Given the description of an element on the screen output the (x, y) to click on. 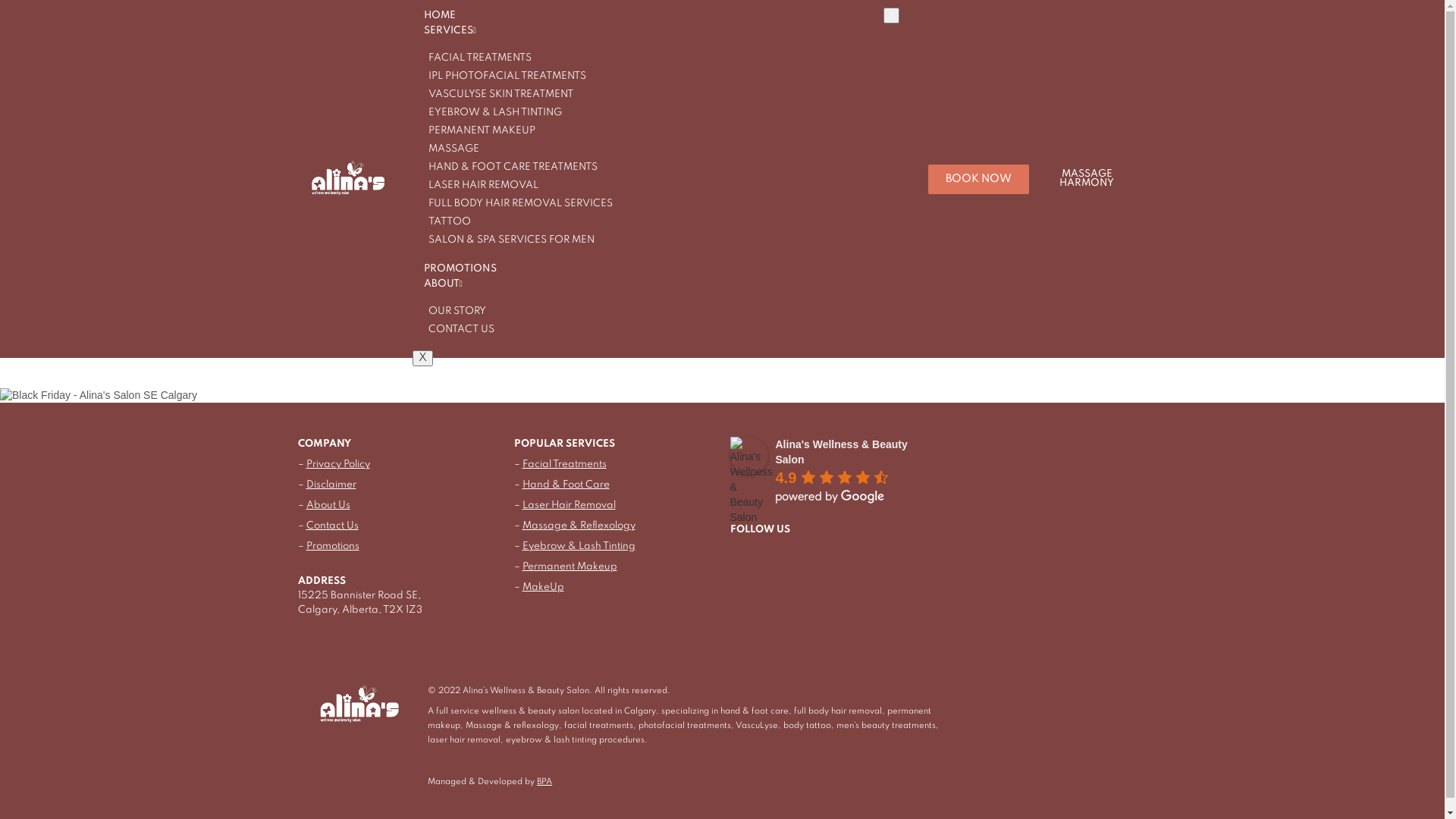
HAND & FOOT CARE TREATMENTS Element type: text (508, 167)
Laser Hair Removal Element type: text (568, 505)
Black Friday - Alina's Salon SE Calgary Element type: hover (722, 395)
FACIAL TREATMENTS Element type: text (475, 57)
TATTOO Element type: text (445, 221)
OUR STORY Element type: text (453, 311)
Eyebrow & Lash Tinting  Element type: text (579, 546)
MakeUp Element type: text (542, 587)
BPA Element type: text (544, 781)
IPL PHOTOFACIAL TREATMENTS Element type: text (503, 76)
powered by Google Element type: hover (829, 496)
Alina's Wellness & Beauty Salon Element type: hover (748, 455)
PERMANENT MAKEUP Element type: text (477, 130)
X Element type: text (422, 358)
SERVICES Element type: text (449, 30)
MASSAGE HARMONY Element type: text (1086, 178)
SALON & SPA SERVICES FOR MEN Element type: text (507, 239)
HOME Element type: text (439, 15)
MASSAGE Element type: text (449, 148)
LASER HAIR REMOVAL Element type: text (479, 185)
Alina's Wellness & Beauty Salon Element type: text (840, 451)
Massage & Reflexology Element type: text (577, 525)
Facial Treatments Element type: text (563, 464)
ABOUT Element type: text (442, 283)
Promotions Element type: text (332, 546)
Permanent Makeup Element type: text (568, 566)
CONTACT US Element type: text (457, 329)
FULL BODY HAIR REMOVAL SERVICES Element type: text (516, 203)
About Us Element type: text (328, 505)
VASCULYSE SKIN TREATMENT Element type: text (496, 94)
Hand & Foot Care Element type: text (564, 484)
Contact Us Element type: text (332, 525)
Privacy Policy Element type: text (338, 464)
Disclaimer Element type: text (331, 484)
EYEBROW & LASH TINTING Element type: text (491, 112)
PROMOTIONS Element type: text (460, 268)
BOOK NOW Element type: text (978, 178)
